Given the description of an element on the screen output the (x, y) to click on. 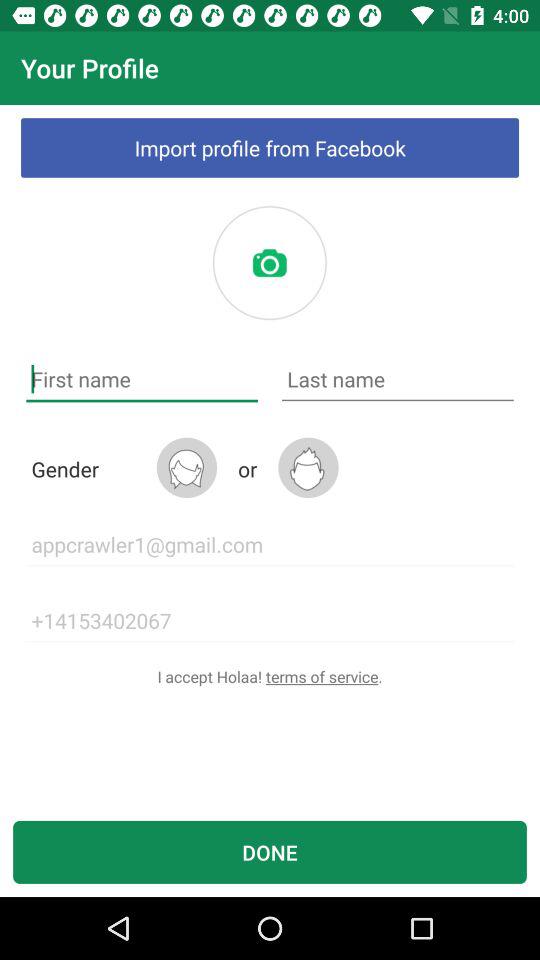
turn on the icon below import profile from icon (269, 263)
